Given the description of an element on the screen output the (x, y) to click on. 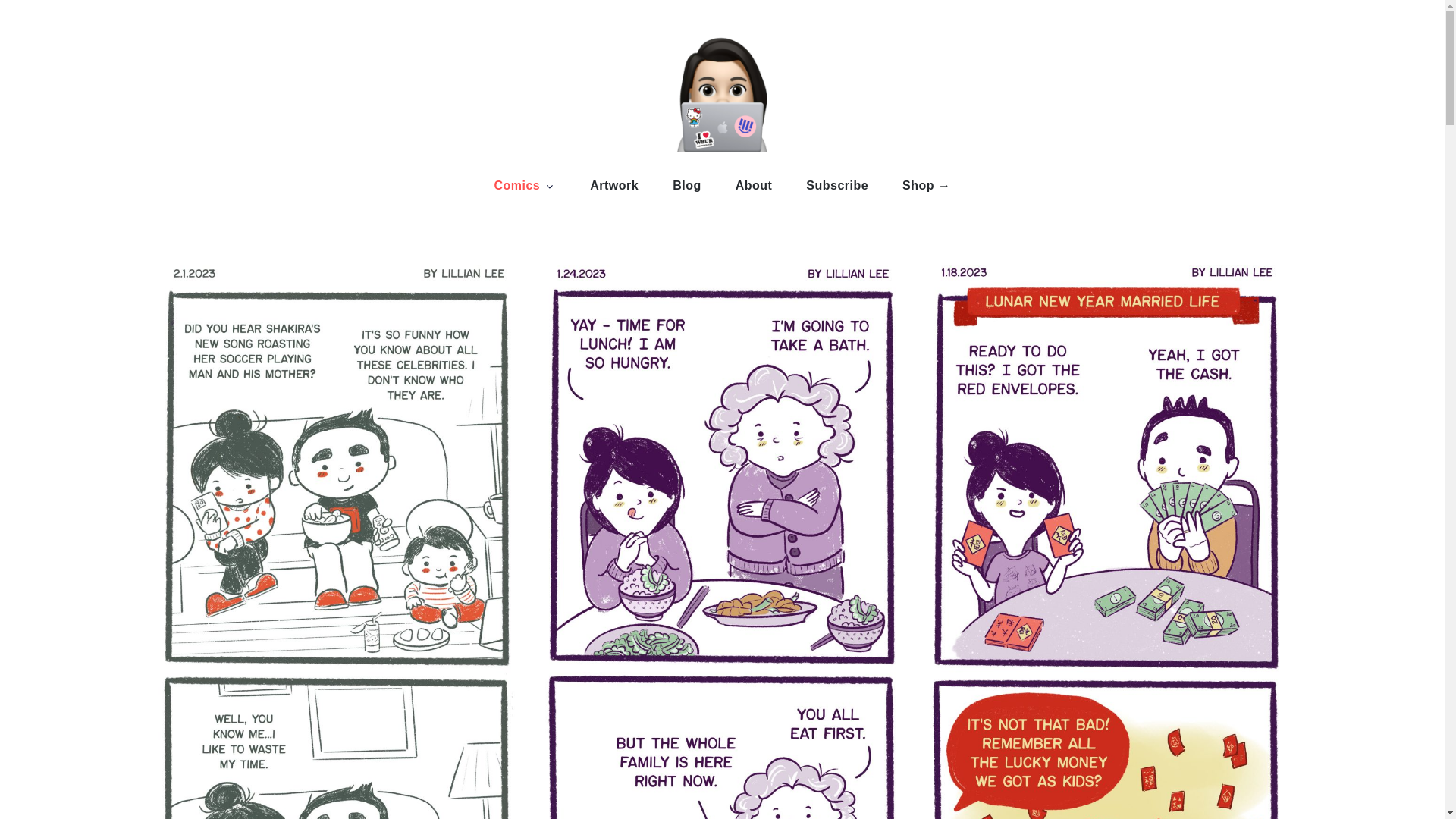
empty bamboo girl (457, 187)
Comics (524, 185)
About (753, 185)
Subscribe (836, 185)
Artwork (614, 185)
